Given the description of an element on the screen output the (x, y) to click on. 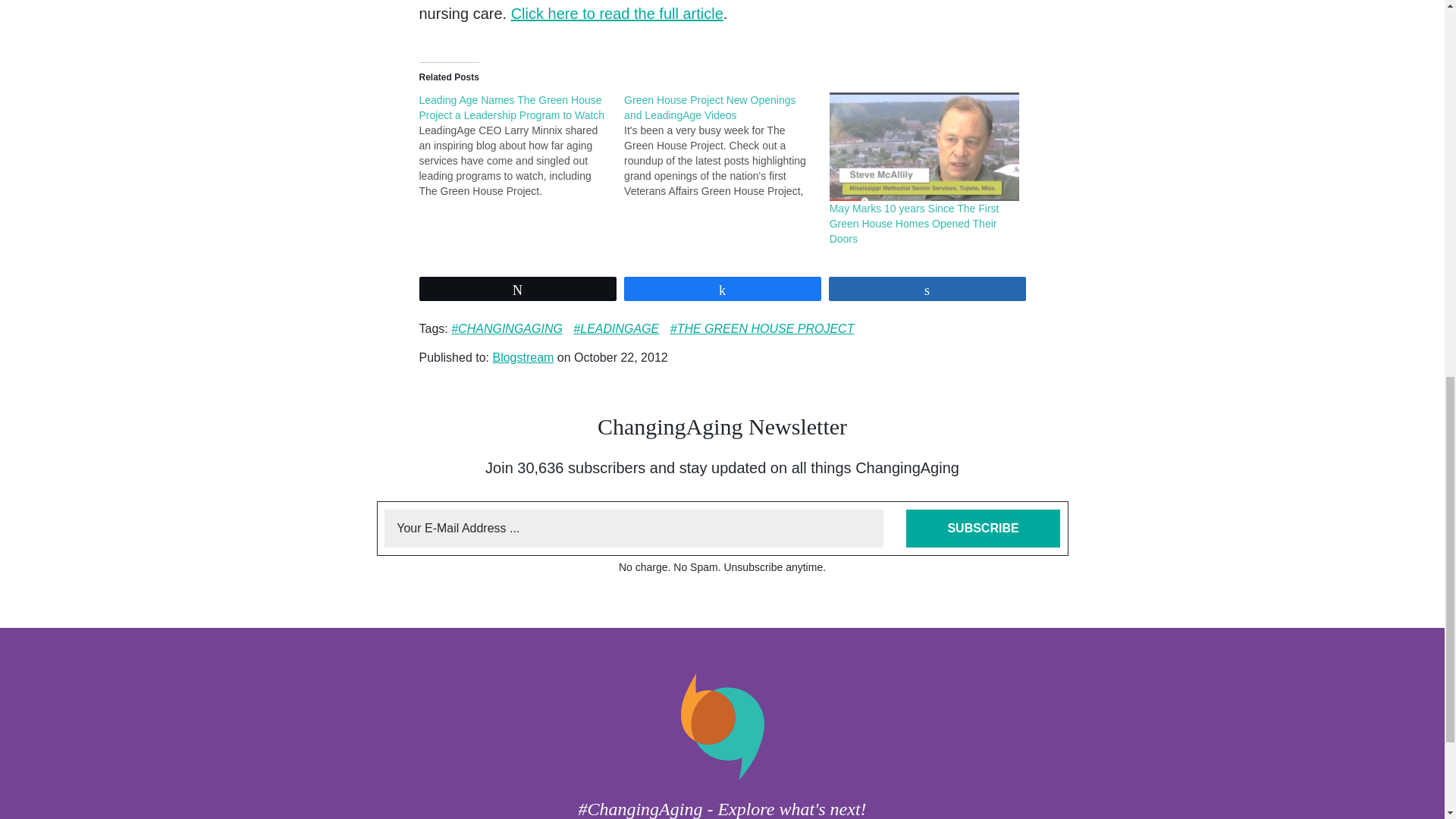
Green House Project New Openings and LeadingAge Videos (709, 107)
LEADINGAGE (616, 329)
Green House Project New Openings and LeadingAge Videos (709, 107)
Subscribe (982, 528)
Click here to read the full article (617, 13)
THE GREEN HOUSE PROJECT (761, 329)
CHANGINGAGING (506, 329)
Green House Project New Openings and LeadingAge Videos (726, 145)
Blogstream (522, 357)
